Given the description of an element on the screen output the (x, y) to click on. 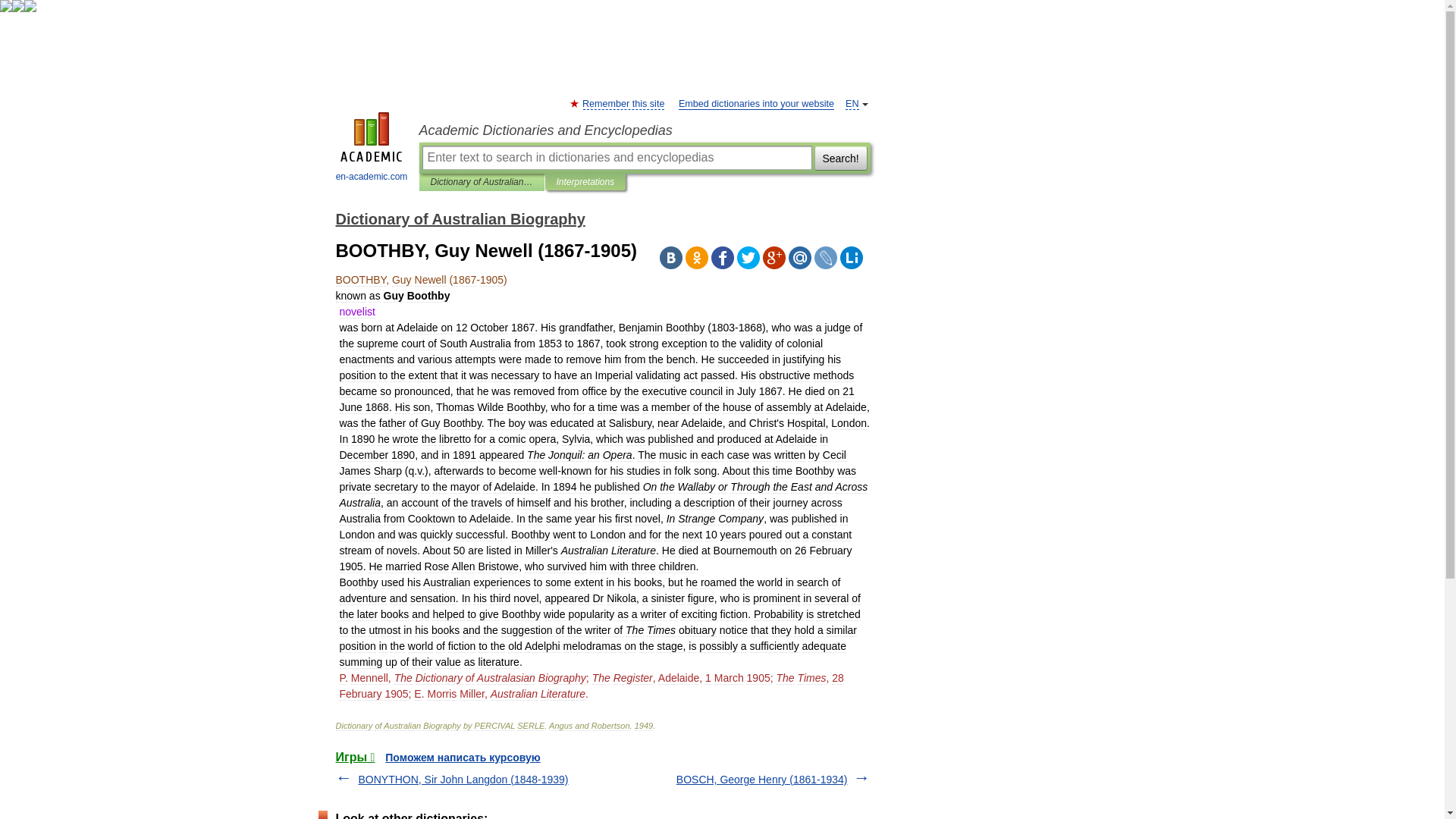
Embed dictionaries into your website (756, 103)
en-academic.com (371, 148)
EN (852, 103)
Dictionary of Australian Biography (481, 181)
Search! (840, 157)
Dictionary of Australian Biography (459, 218)
Remember this site (623, 103)
Interpretations (585, 181)
Academic Dictionaries and Encyclopedias (644, 130)
Enter text to search in dictionaries and encyclopedias (616, 157)
